Given the description of an element on the screen output the (x, y) to click on. 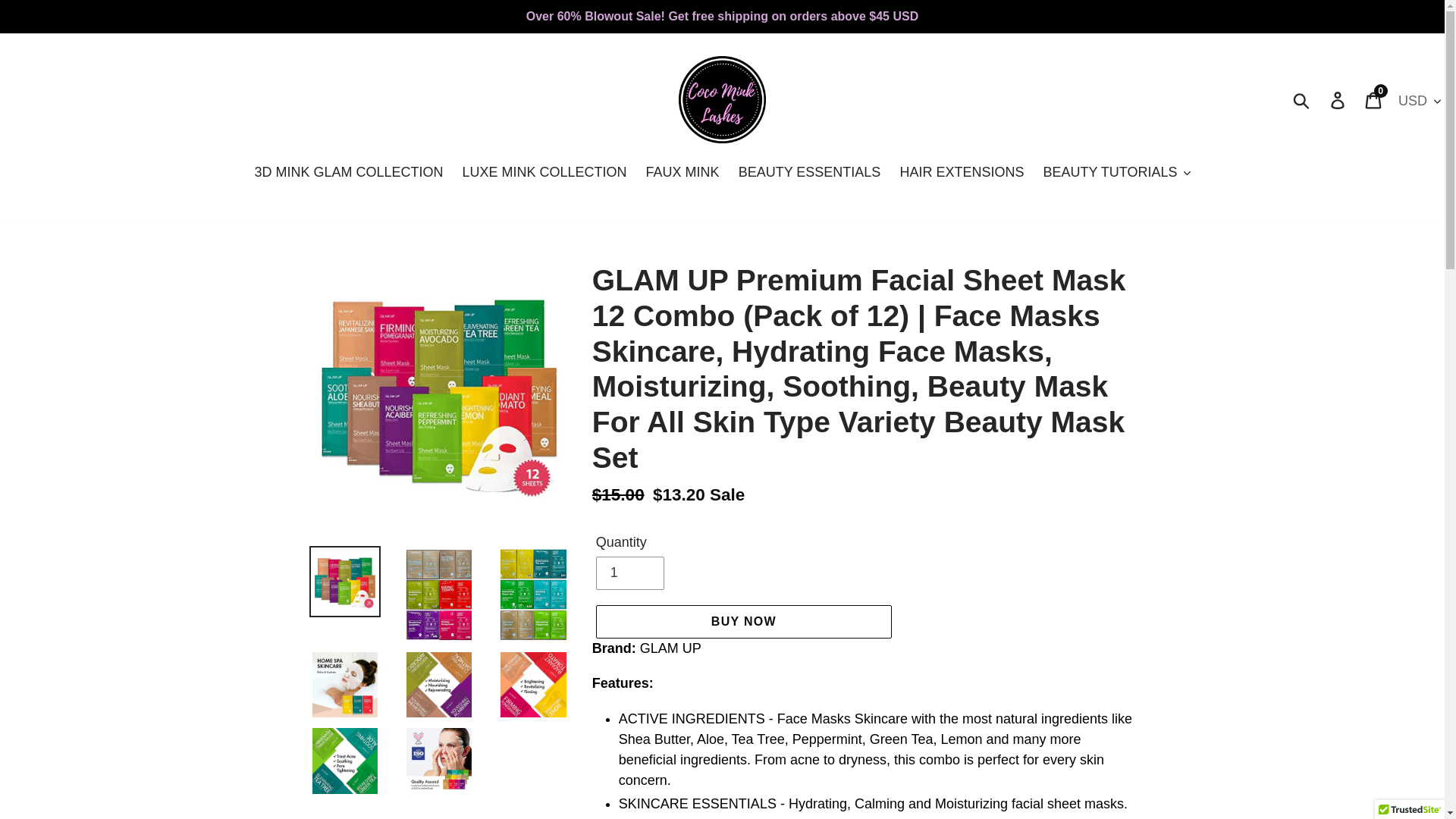
1 (629, 572)
HAIR EXTENSIONS (1373, 99)
BUY NOW (960, 173)
3D MINK GLAM COLLECTION (743, 621)
Submit (347, 173)
LUXE MINK COLLECTION (1302, 100)
Log in (544, 173)
BEAUTY ESSENTIALS (1338, 99)
FAUX MINK (809, 173)
